Given the description of an element on the screen output the (x, y) to click on. 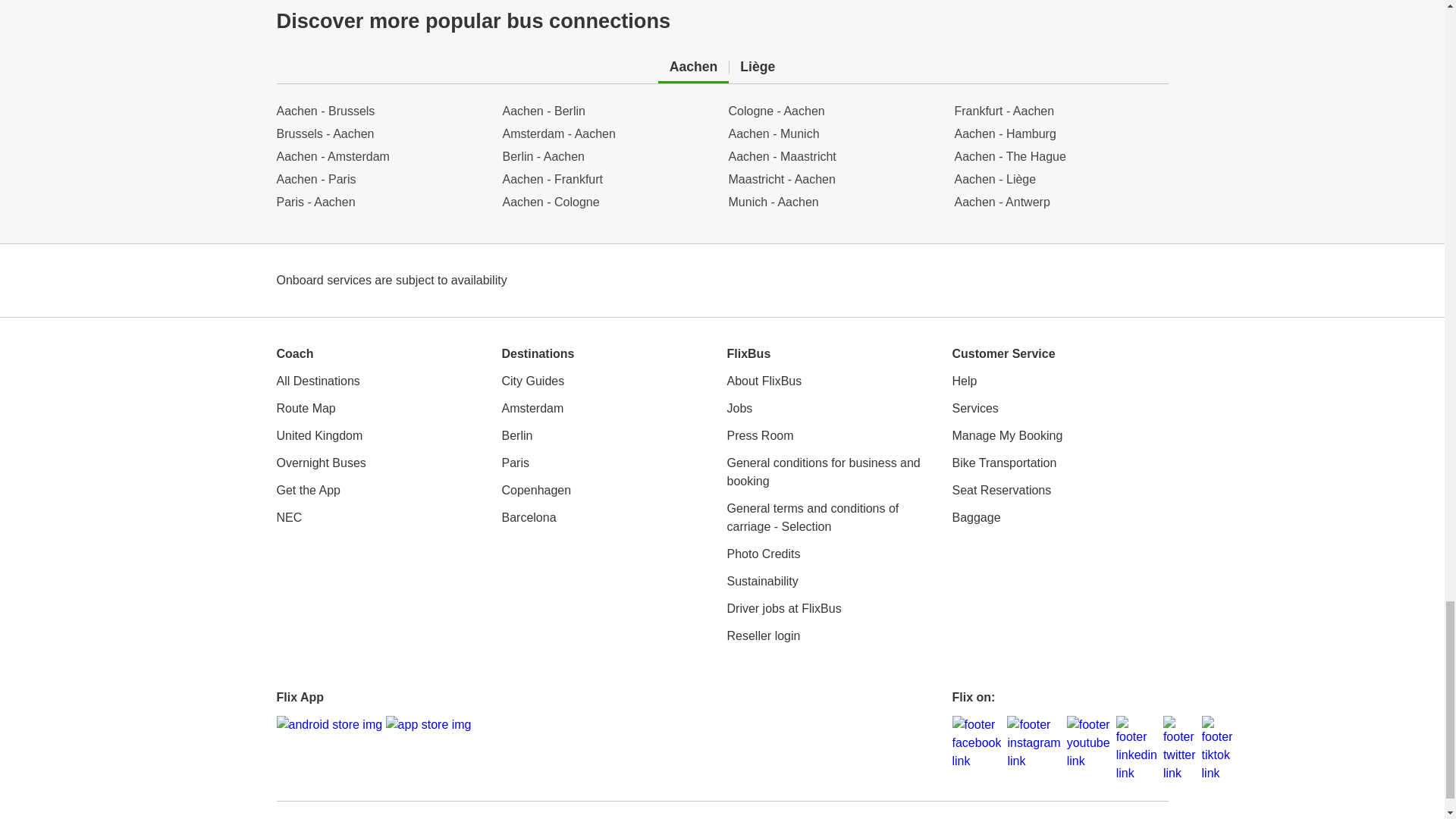
Aachen (693, 66)
